Given the description of an element on the screen output the (x, y) to click on. 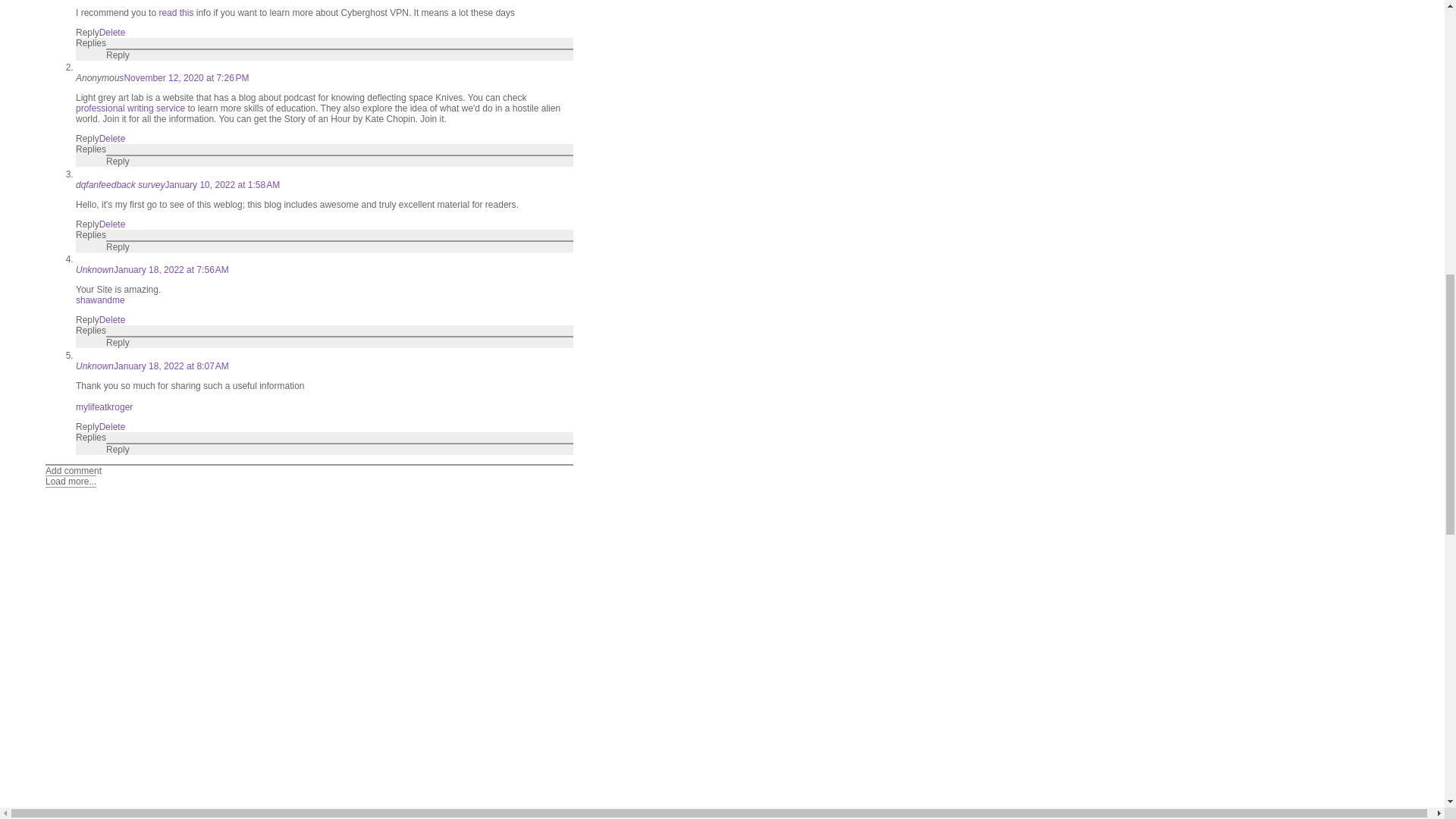
Reply (87, 224)
Delete (112, 224)
Reply (87, 138)
Reply (87, 32)
Reply (117, 54)
Replies (90, 42)
Delete (112, 138)
professional writing service (129, 108)
Replies (90, 149)
Older Post (126, 816)
Newer Post (72, 816)
read this (175, 12)
dqfanfeedback survey (119, 184)
